Given the description of an element on the screen output the (x, y) to click on. 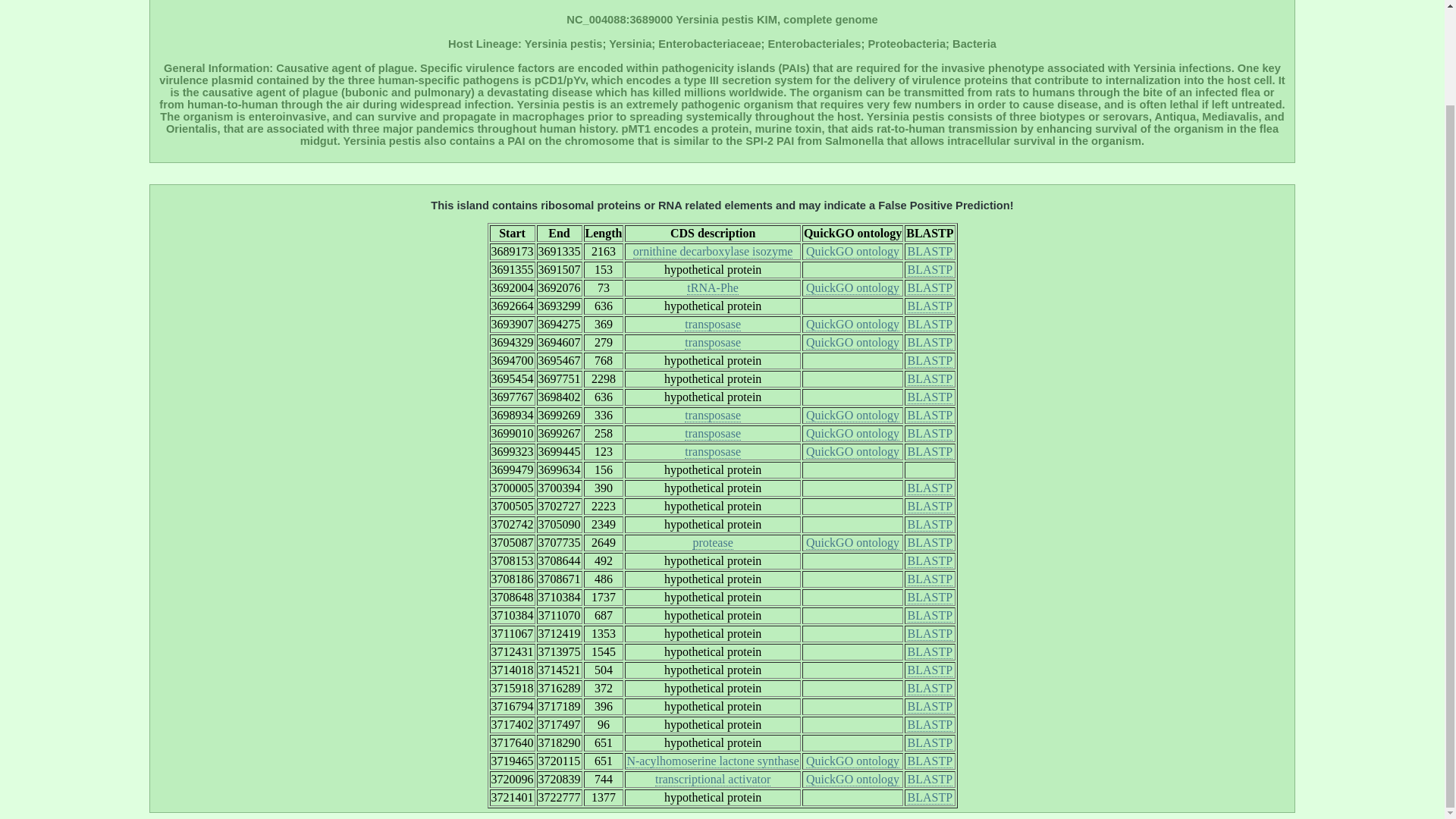
BLASTP (930, 342)
Retrieve QuickGO gene ontology (852, 287)
BLASTP (930, 488)
QuickGO ontology (852, 251)
Display BLASTP hits for this cds (930, 269)
BLASTP (930, 324)
ornithine decarboxylase isozyme (713, 251)
QuickGO ontology (852, 324)
transposase (712, 451)
BLASTP (930, 360)
Display BLASTP hits for this cds (930, 305)
Search database for similar gene annotations (712, 342)
BLASTP (930, 305)
QuickGO ontology (852, 415)
transposase (712, 415)
